Given the description of an element on the screen output the (x, y) to click on. 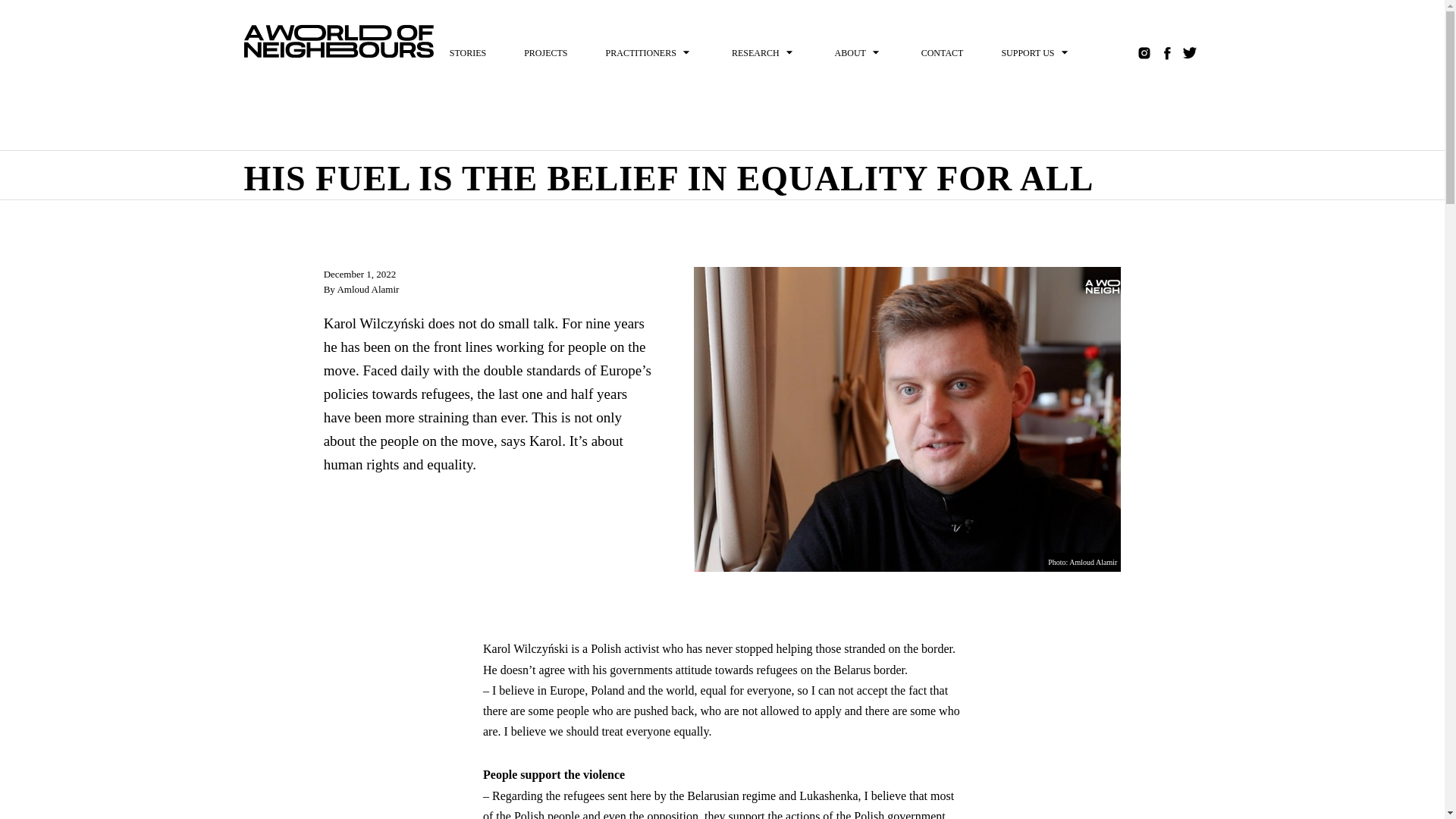
PROJECTS (544, 52)
PRACTITIONERS (649, 52)
CONTACT (942, 52)
A World of Neighbours (338, 41)
SUPPORT US (1036, 52)
ABOUT (858, 52)
STORIES (467, 52)
RESEARCH (764, 52)
